Given the description of an element on the screen output the (x, y) to click on. 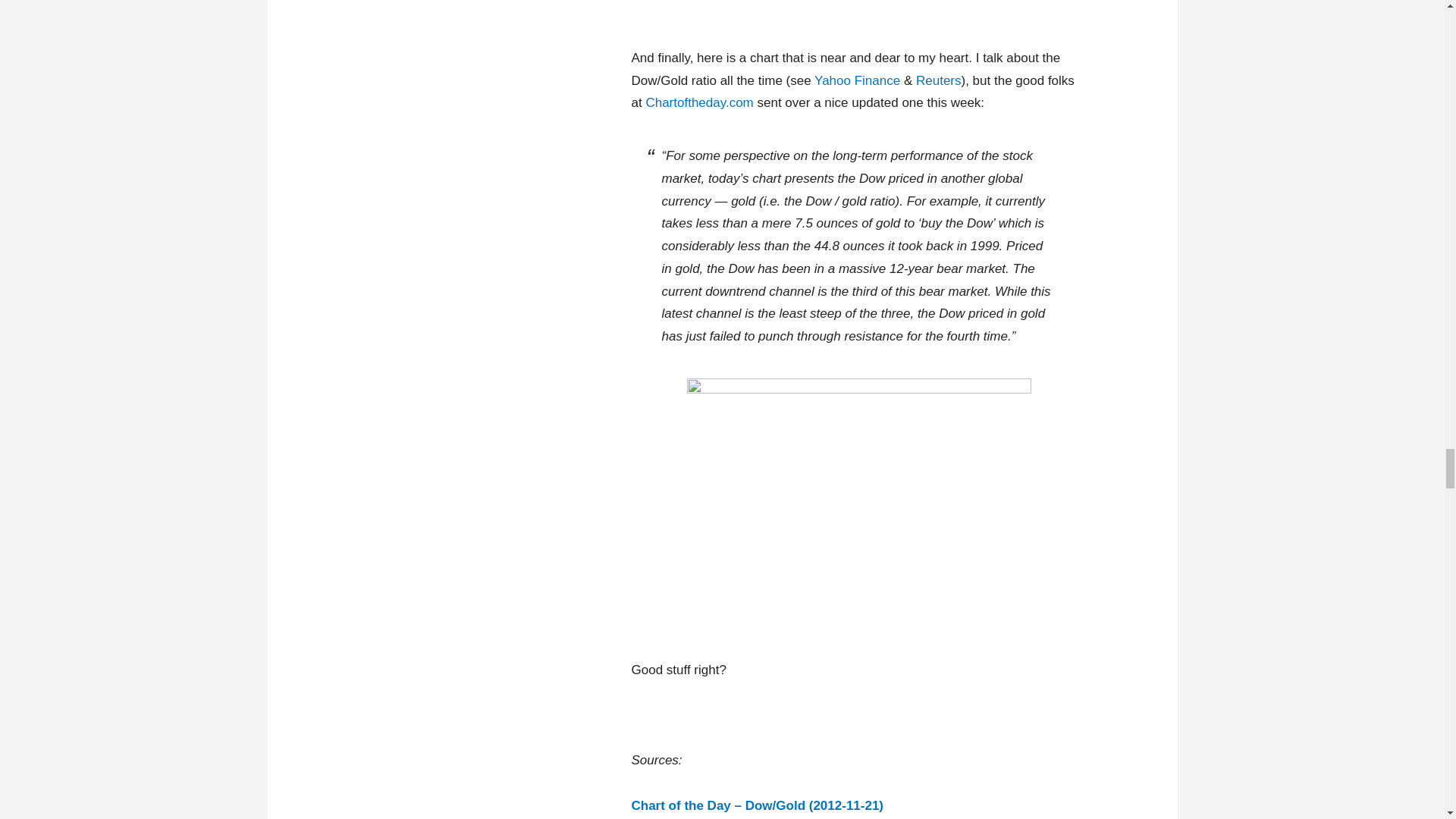
11-21-12 dow vs gold cotd (858, 507)
11-21-12 peter brandt gold (858, 12)
